Given the description of an element on the screen output the (x, y) to click on. 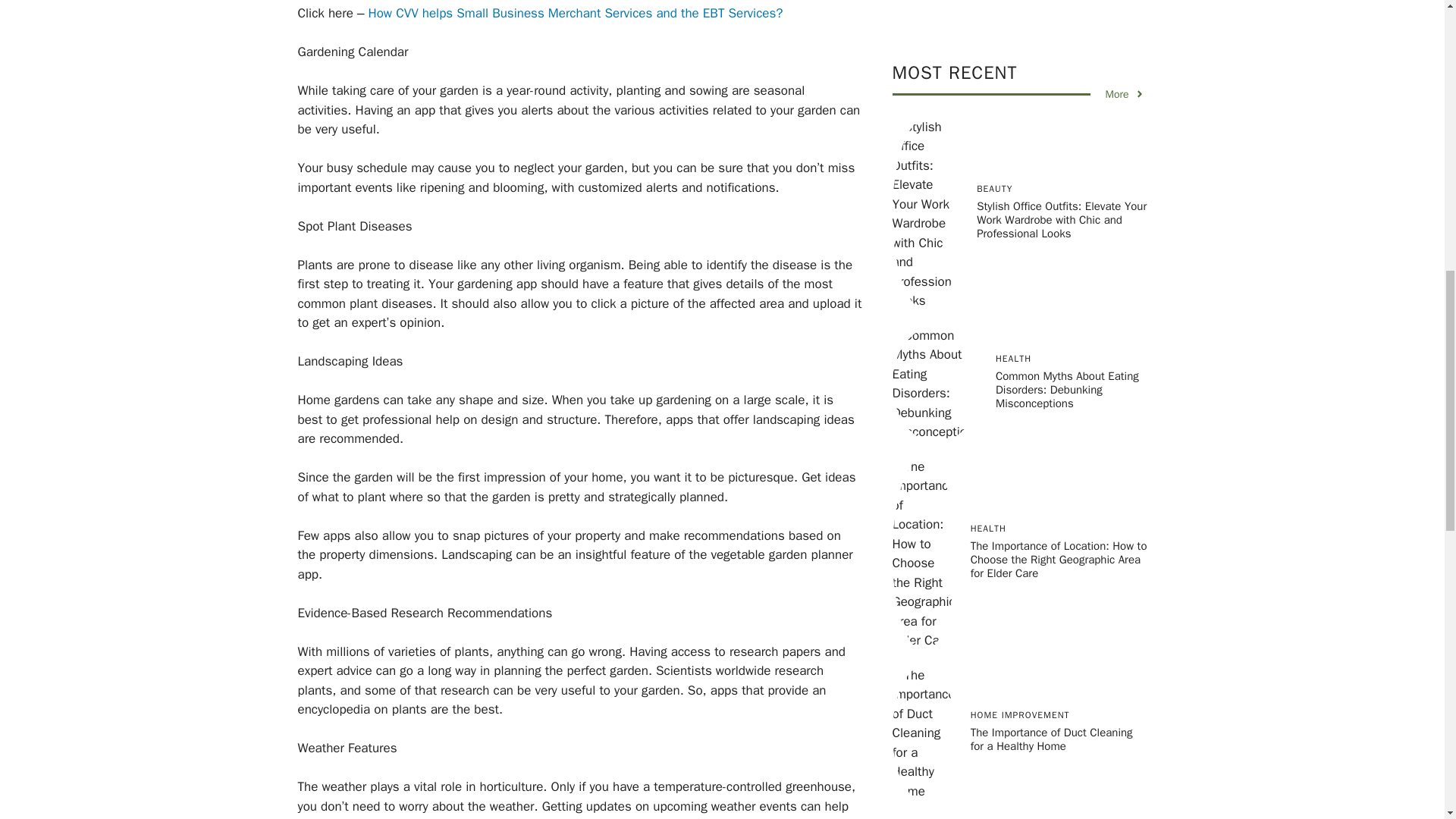
The Importance of Duct Cleaning for a Healthy Home (1051, 257)
